Given the description of an element on the screen output the (x, y) to click on. 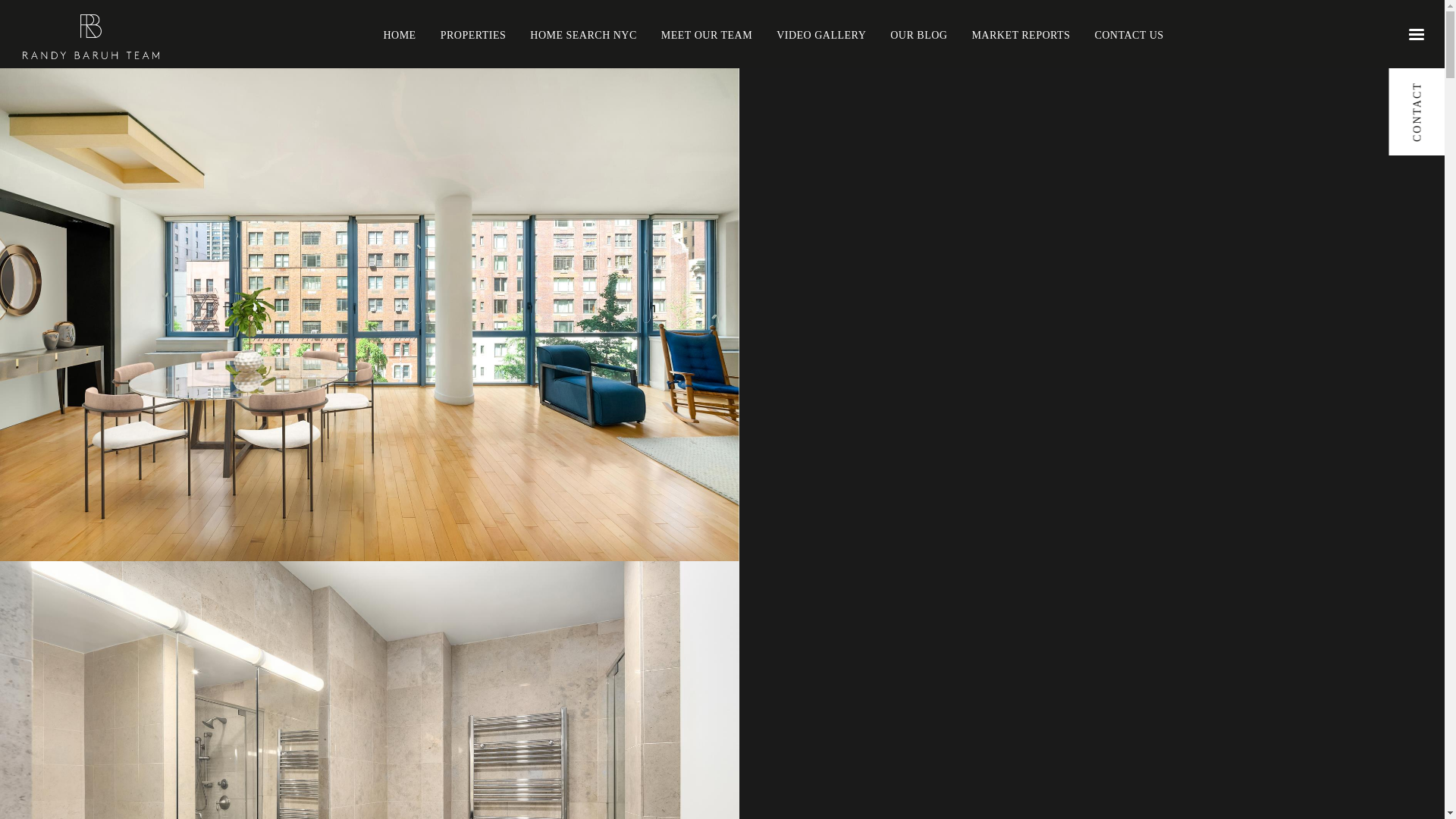
HOME SEARCH NYC (583, 33)
OUR BLOG (918, 33)
PROPERTIES (473, 33)
CONTACT US (1128, 33)
HOME (398, 33)
MEET OUR TEAM (706, 33)
VIDEO GALLERY (821, 33)
MARKET REPORTS (1020, 33)
